Given the description of an element on the screen output the (x, y) to click on. 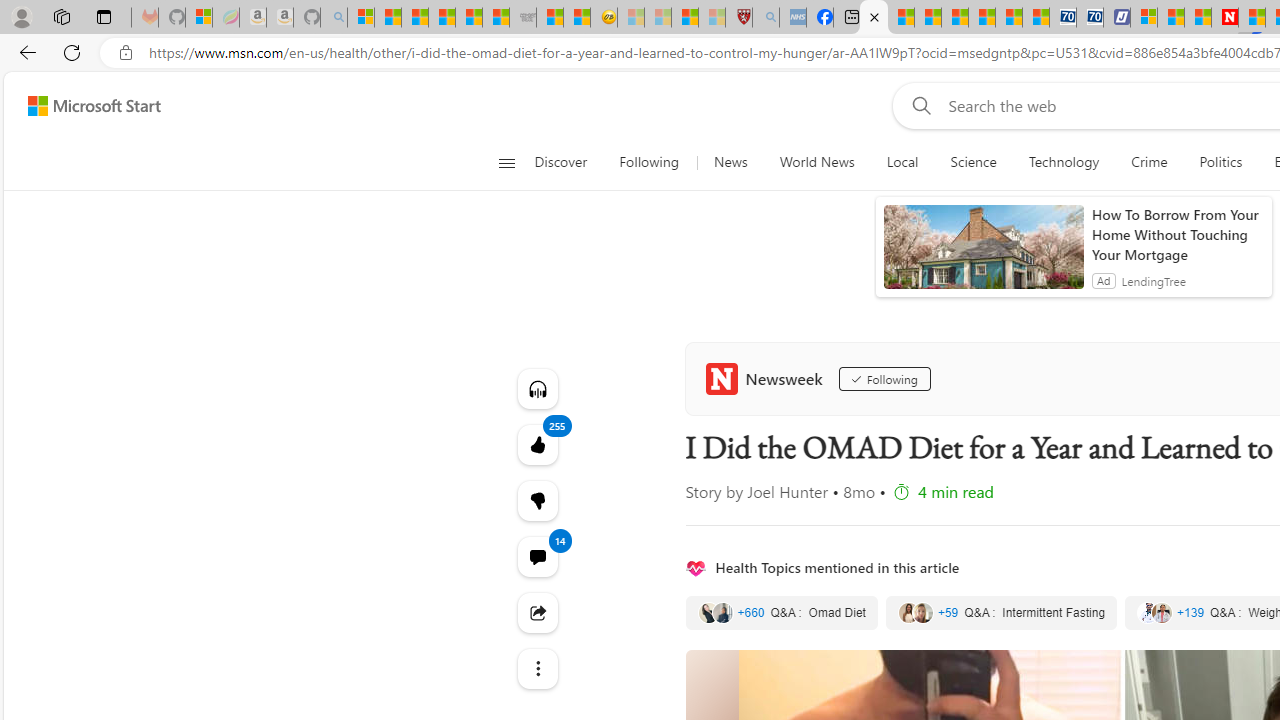
Class: quote-thumbnail (1161, 612)
New Report Confirms 2023 Was Record Hot | Watch (468, 17)
Share this story (537, 612)
Listen to this article (537, 388)
